Given the description of an element on the screen output the (x, y) to click on. 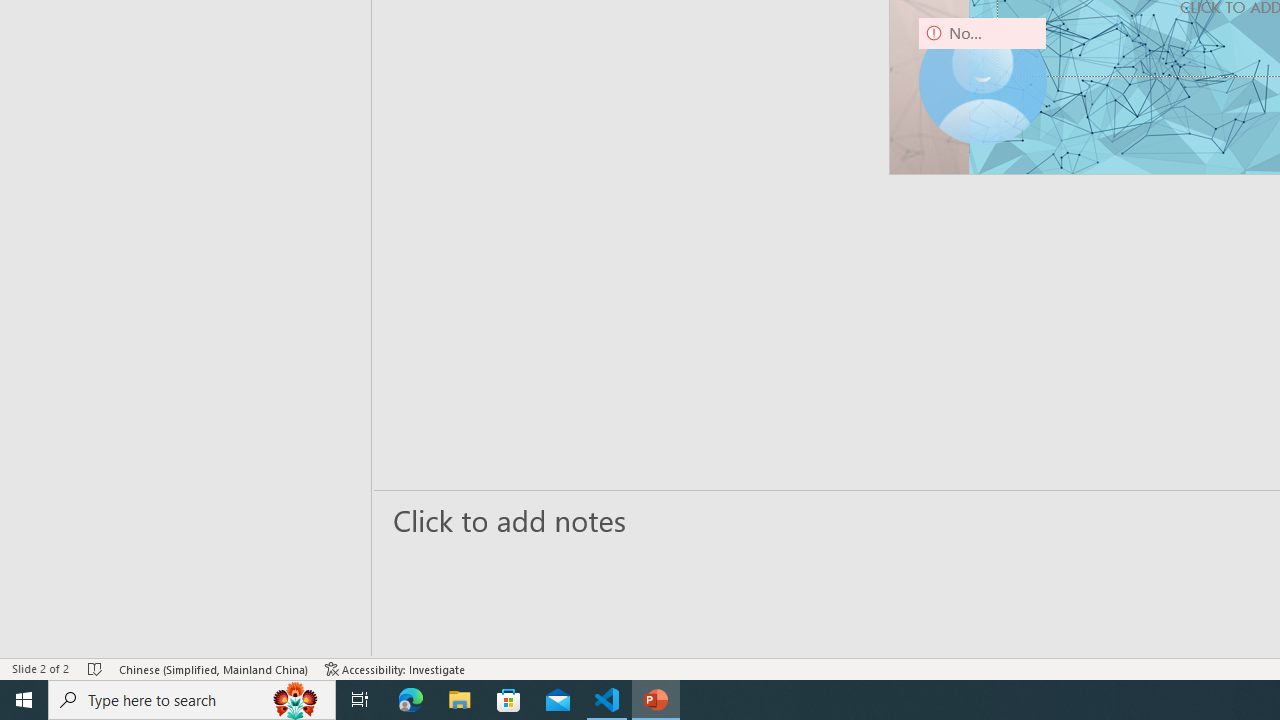
Camera 9, No camera detected. (982, 80)
